Given the description of an element on the screen output the (x, y) to click on. 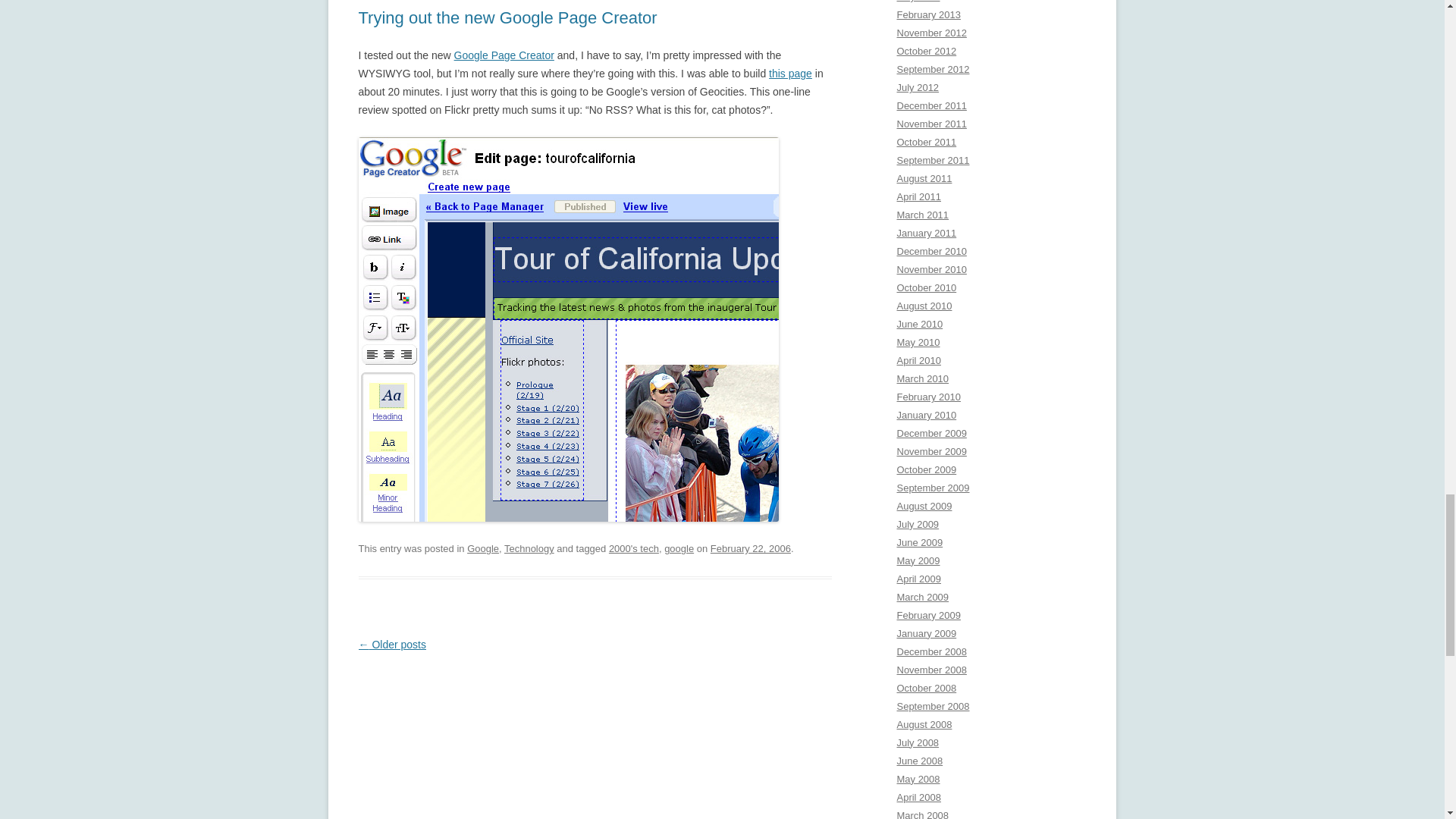
2:56 pm (750, 548)
